Given the description of an element on the screen output the (x, y) to click on. 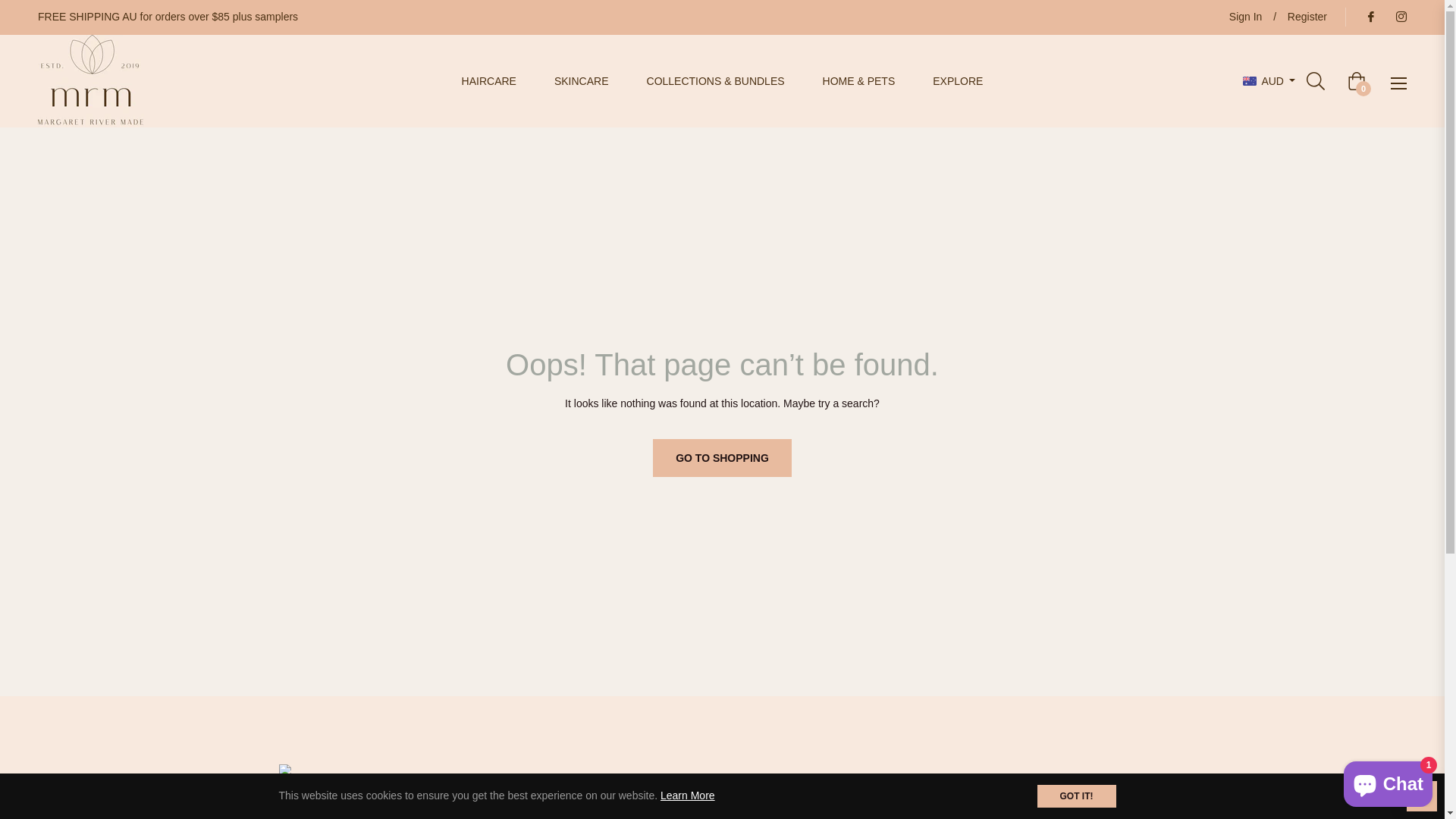
HOME & PETS Element type: text (858, 81)
SKINCARE Element type: text (581, 81)
Shopify online store chat Element type: hover (1388, 780)
GOT IT! Element type: text (1076, 795)
Margaret River Made on Facebook Element type: hover (1370, 16)
Learn More Element type: text (687, 795)
HAIRCARE Element type: text (488, 81)
Register Element type: text (1307, 16)
Margaret River Made on Instagram Element type: hover (1400, 16)
MY WISHLIST Element type: text (1421, 796)
COLLECTIONS & BUNDLES Element type: text (715, 81)
GO TO SHOPPING Element type: text (721, 457)
EXPLORE Element type: text (957, 81)
Sign In Element type: text (1245, 16)
